Given the description of an element on the screen output the (x, y) to click on. 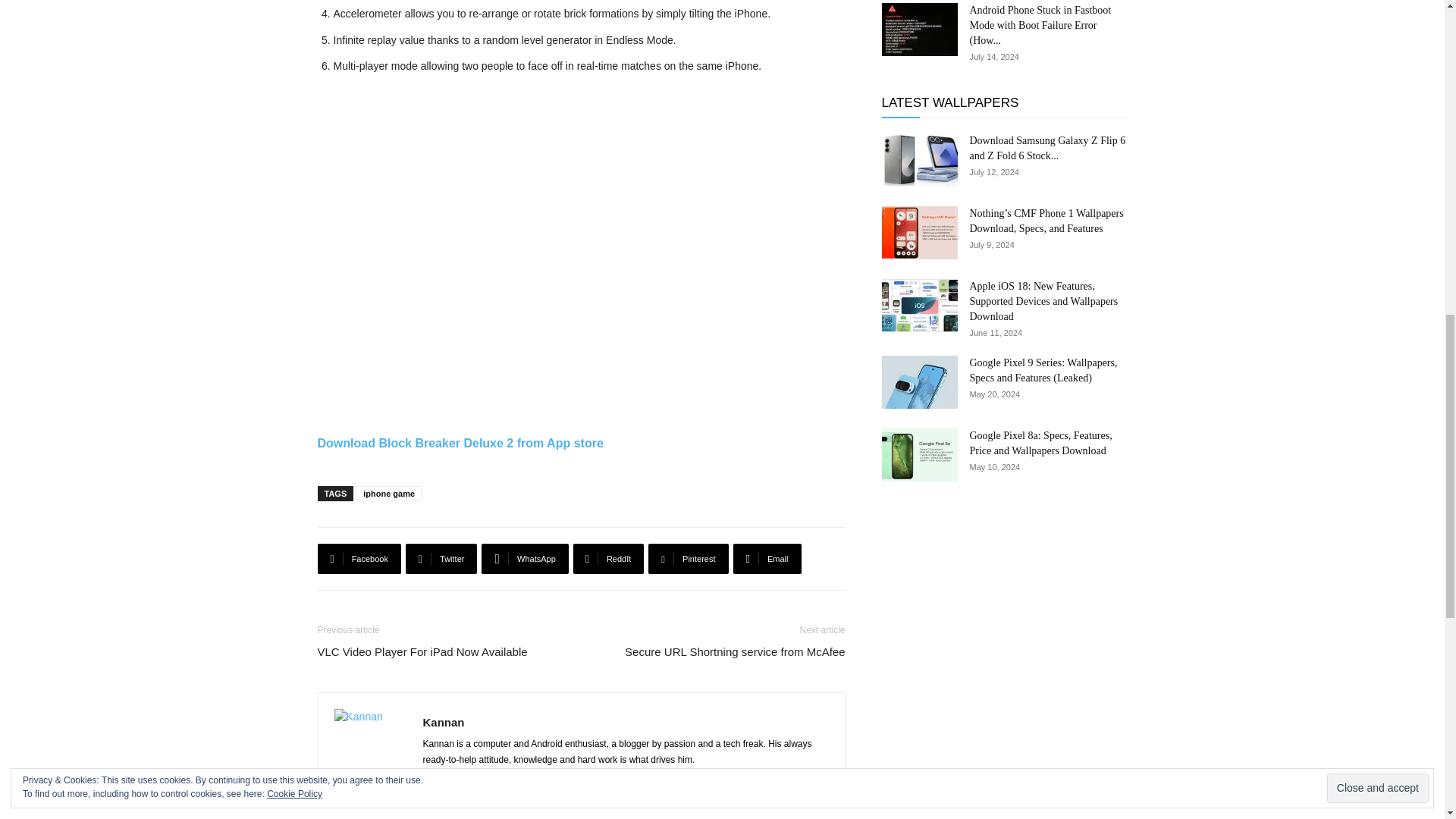
Twitter (441, 558)
Facebook (358, 558)
Pinterest (687, 558)
Email (767, 558)
ReddIt (609, 558)
WhatsApp (524, 558)
